Given the description of an element on the screen output the (x, y) to click on. 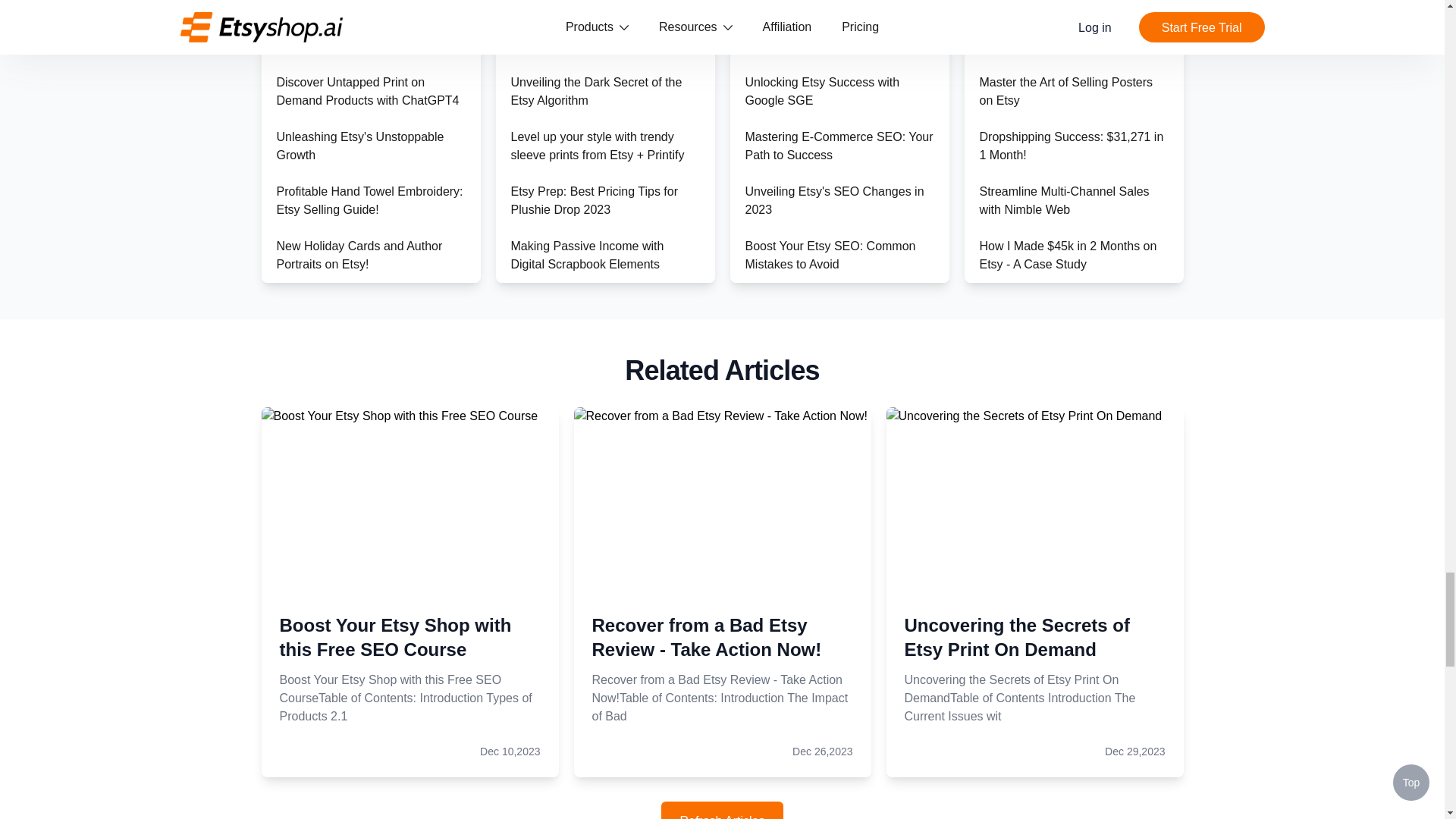
Etsy Prep: Best Pricing Tips for Plushie Drop 2023 (594, 200)
Unbridled Etsy Battles: KingCobraJFS vs the World (350, 418)
Unboxing Beautiful Orchids from Etsy's Triton Orchids (362, 472)
Maximizing Profit: Etsy vs Poshmark (344, 600)
Profitable Hand Towel Embroidery: Etsy Selling Guide! (369, 200)
Exciting Update: My First Plushie Arrived! - Business Vlog (365, 364)
ETSY STAR SELLER Secrets Revealed (356, 309)
Easily Adding Videos to Etsy Listings Using an iPhone (588, 309)
Discover Untapped Print on Demand Products with ChatGPT4 (367, 91)
Unlocking Etsy Success with Google SGE (821, 91)
Unleashing Etsy's Unstoppable Growth (360, 145)
Create and Sell Digital Paper for Etsy (597, 582)
Skyrocket Your Etsy Sales with This TikTok Hack (594, 472)
Unveiling the Dark Secret of the Etsy Algorithm (596, 91)
New Holiday Cards and Author Portraits on Etsy! (359, 255)
